Given the description of an element on the screen output the (x, y) to click on. 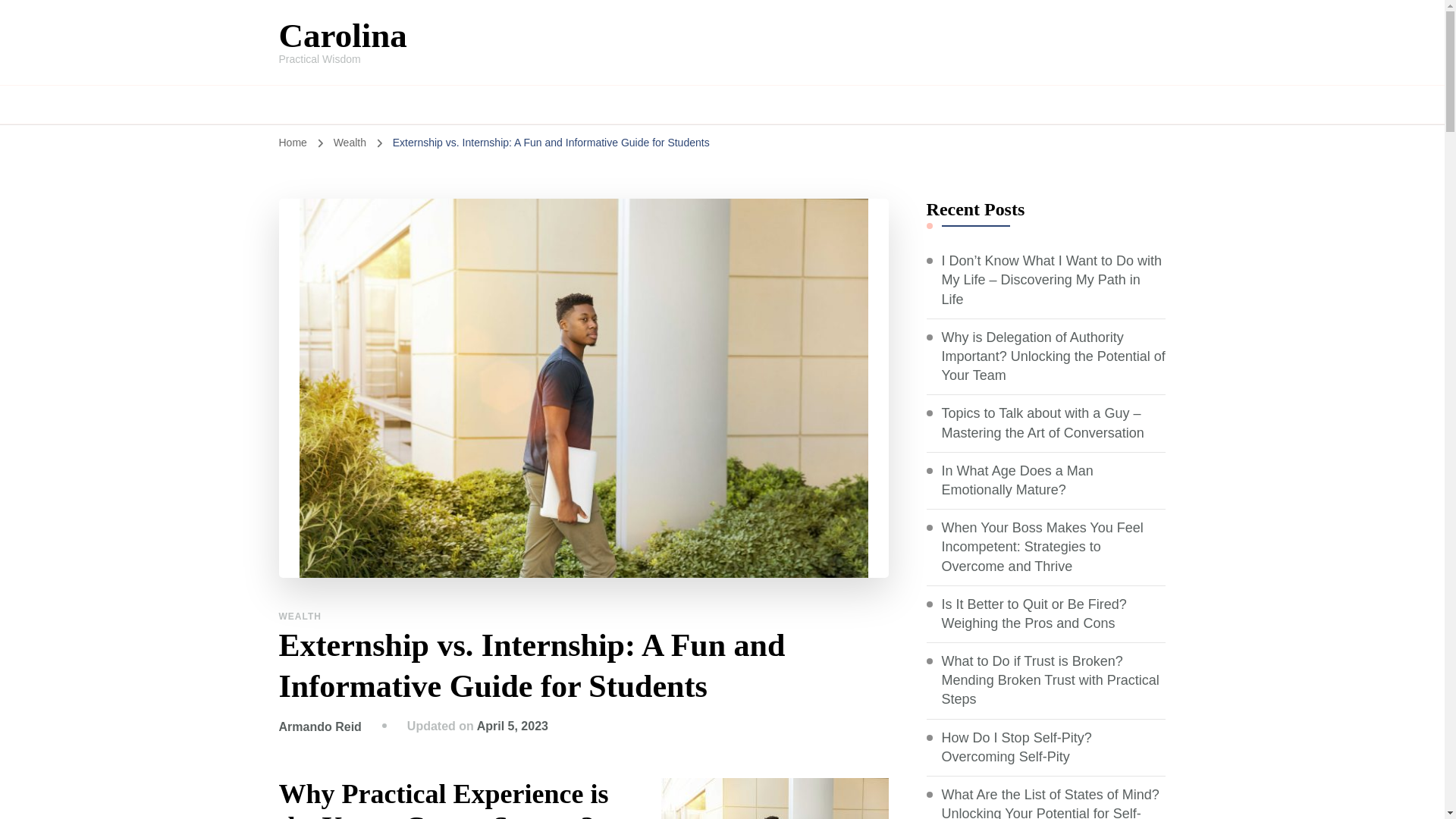
Is It Better to Quit or Be Fired? Weighing the Pros and Cons (1054, 614)
WEALTH (300, 615)
In What Age Does a Man Emotionally Mature? (1054, 480)
Carolina (343, 35)
Wealth (351, 142)
Armando Reid (320, 726)
